Given the description of an element on the screen output the (x, y) to click on. 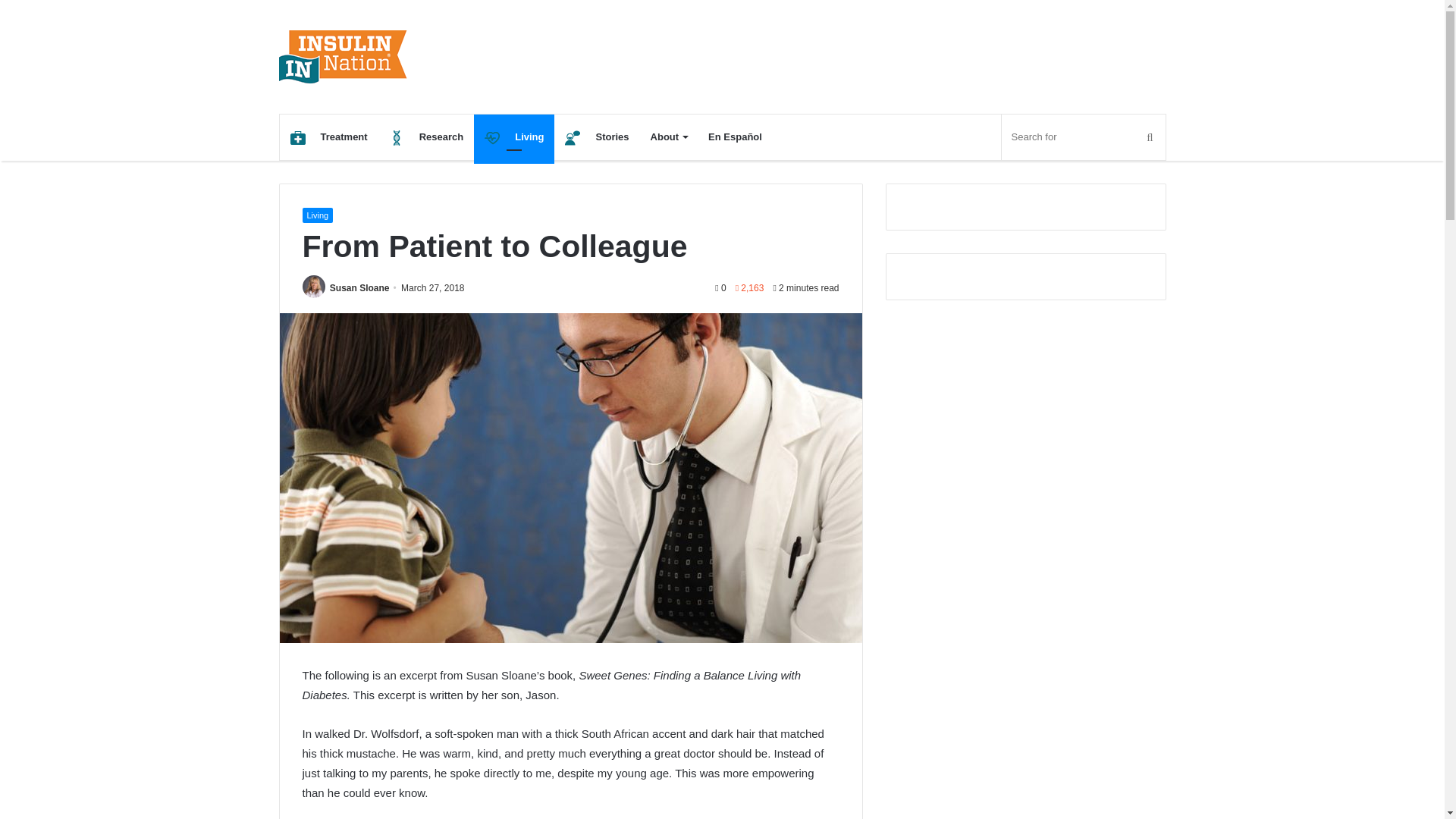
Posts by Susan Sloane (360, 287)
Treatment (328, 136)
Susan Sloane (360, 287)
Search for (1082, 136)
0 (719, 287)
Living (317, 215)
Stories (596, 136)
Living (514, 136)
Research (426, 136)
Insulin Nation (343, 56)
About (669, 136)
